Given the description of an element on the screen output the (x, y) to click on. 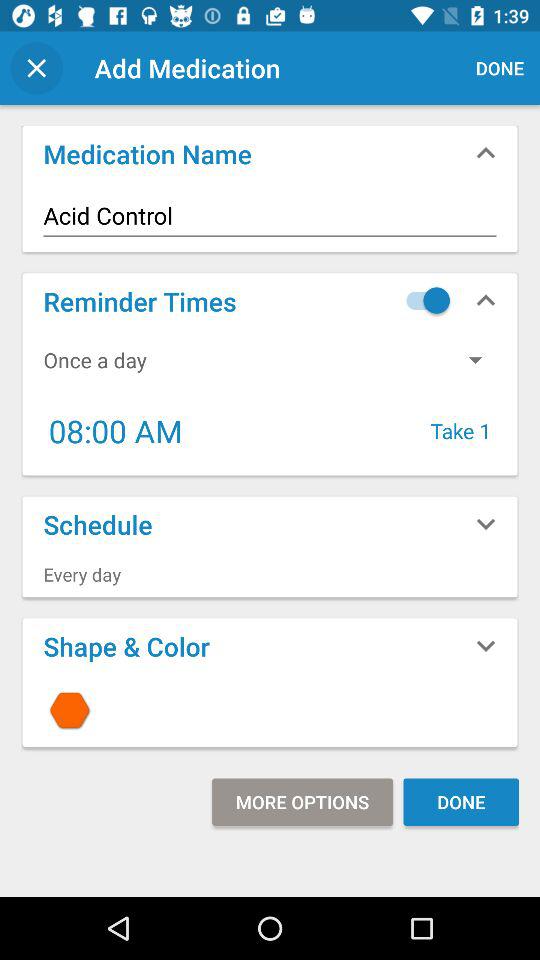
close the window (36, 68)
